Given the description of an element on the screen output the (x, y) to click on. 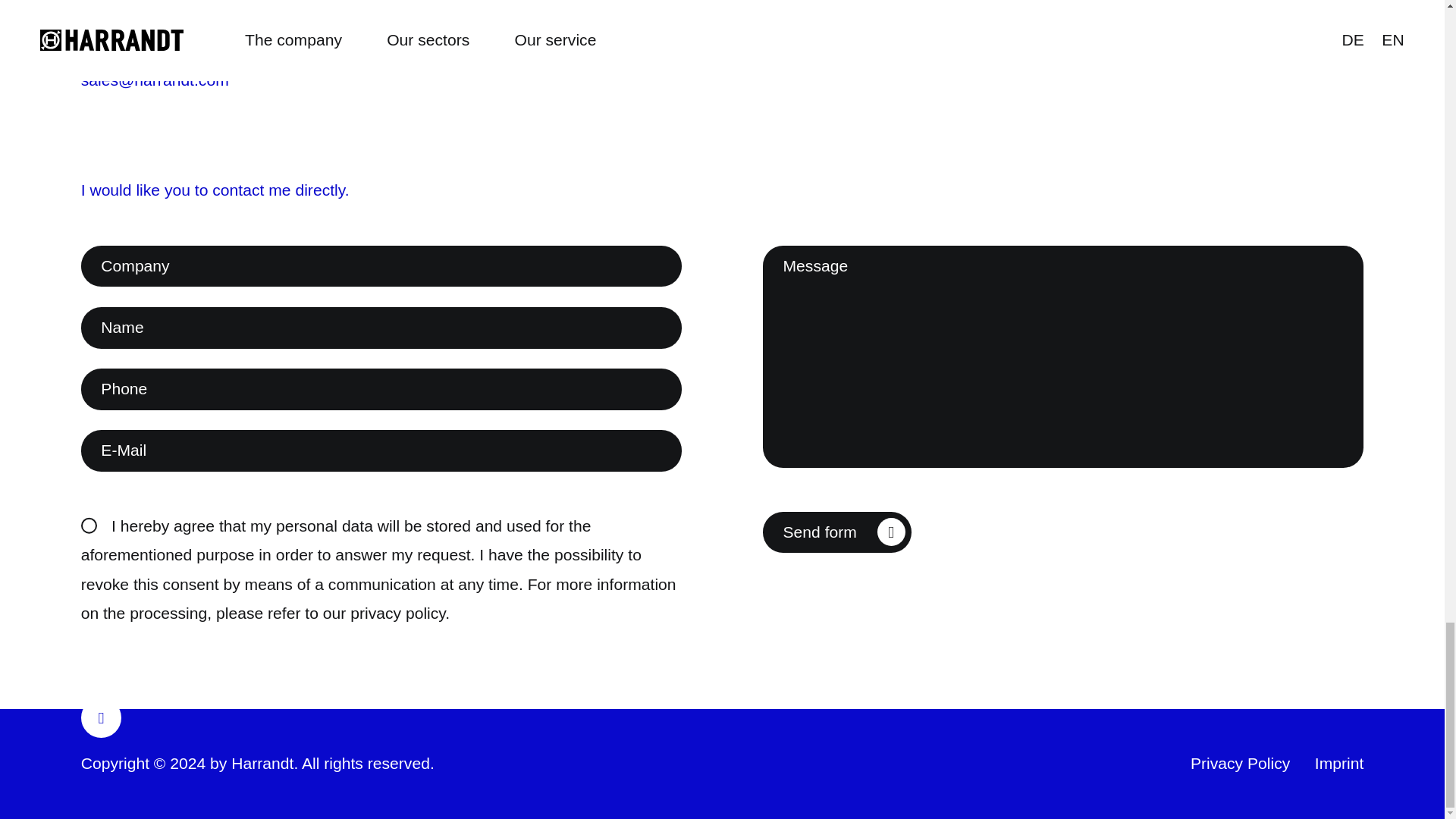
Privacy Policy (1240, 763)
Privacy Policy (1240, 763)
Accepted (89, 524)
Imprint (1339, 763)
Imprint (1339, 763)
